Given the description of an element on the screen output the (x, y) to click on. 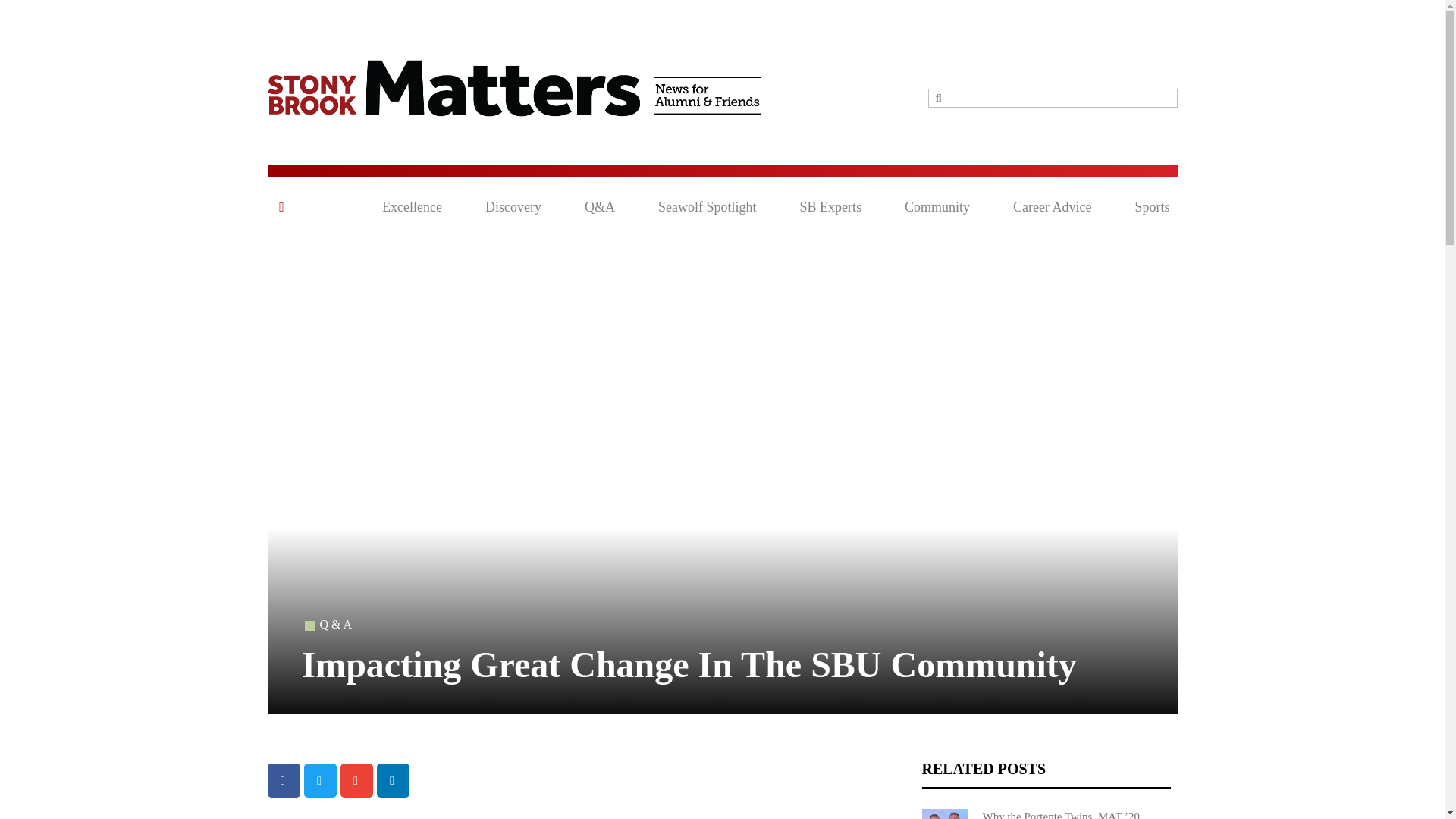
Excellence (411, 206)
Community (936, 206)
SB Experts (830, 206)
Career Advice (1051, 206)
Discovery (512, 206)
Seawolf Spotlight (707, 206)
Sports (1151, 206)
